Given the description of an element on the screen output the (x, y) to click on. 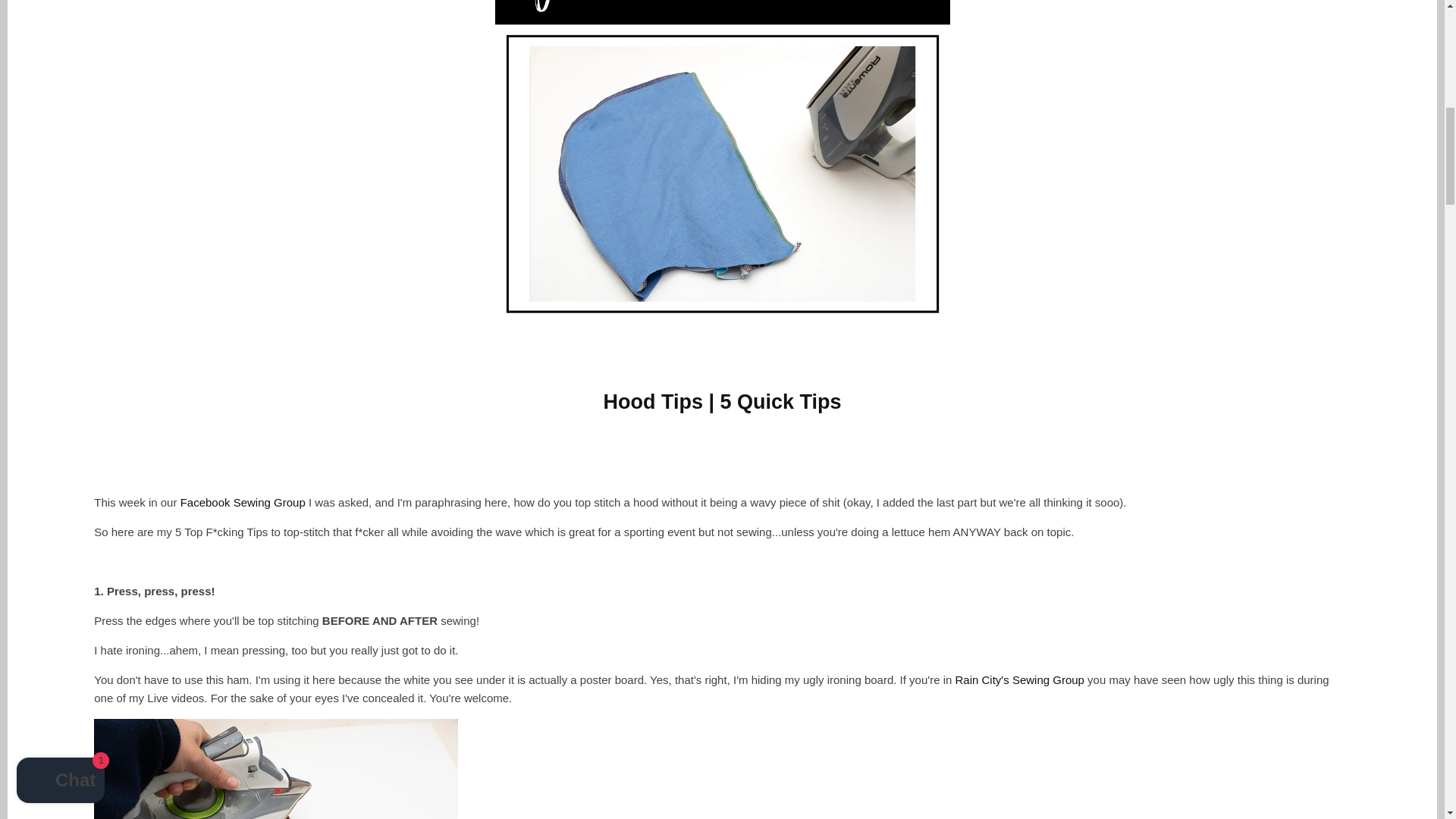
Rain City Sewing Group (242, 502)
Rain City's Sewing Group (1019, 679)
Rain City Sewing Group (1019, 679)
Facebook Sewing Group (242, 502)
